Given the description of an element on the screen output the (x, y) to click on. 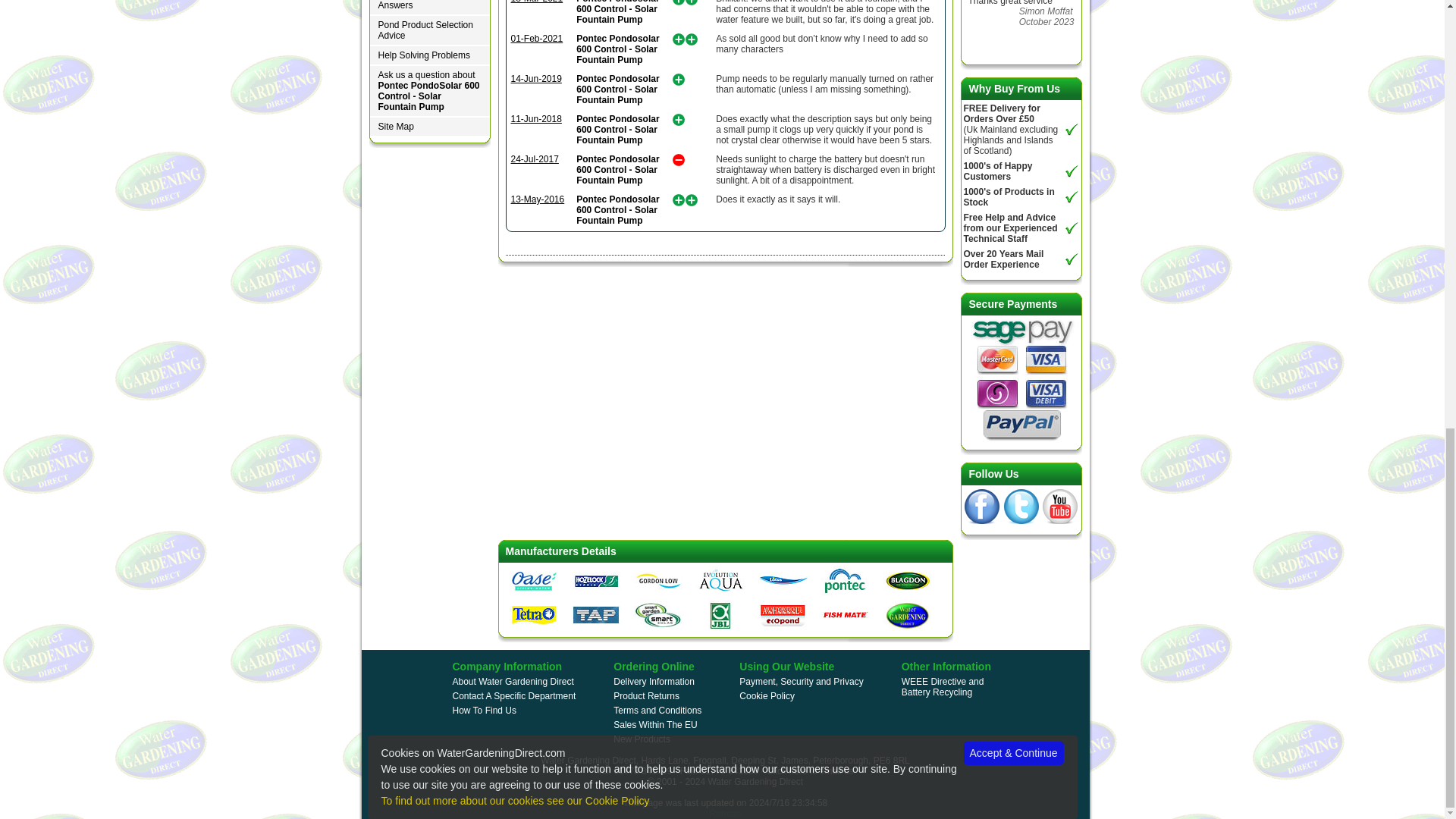
Oase - Company and Product Details (534, 580)
Help Solving Problems (429, 55)
Pond Questions and Answers (429, 7)
Site Map (429, 127)
Pond Product Selection Advice (429, 30)
